Given the description of an element on the screen output the (x, y) to click on. 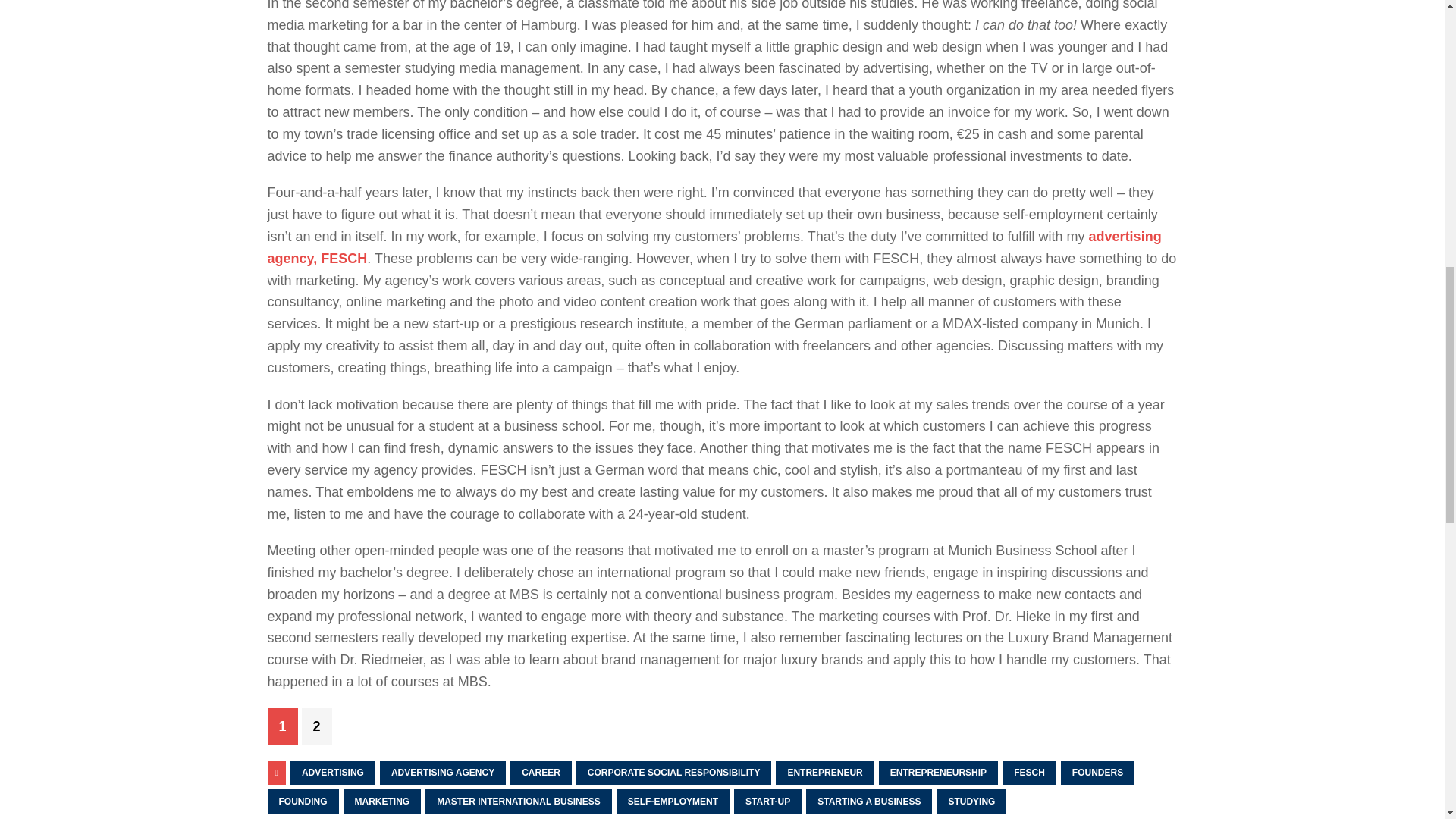
2 (316, 726)
ADVERTISING (332, 772)
CAREER (541, 772)
CORPORATE SOCIAL RESPONSIBILITY (673, 772)
advertising agency, FESCH (713, 247)
ADVERTISING AGENCY (442, 772)
